Given the description of an element on the screen output the (x, y) to click on. 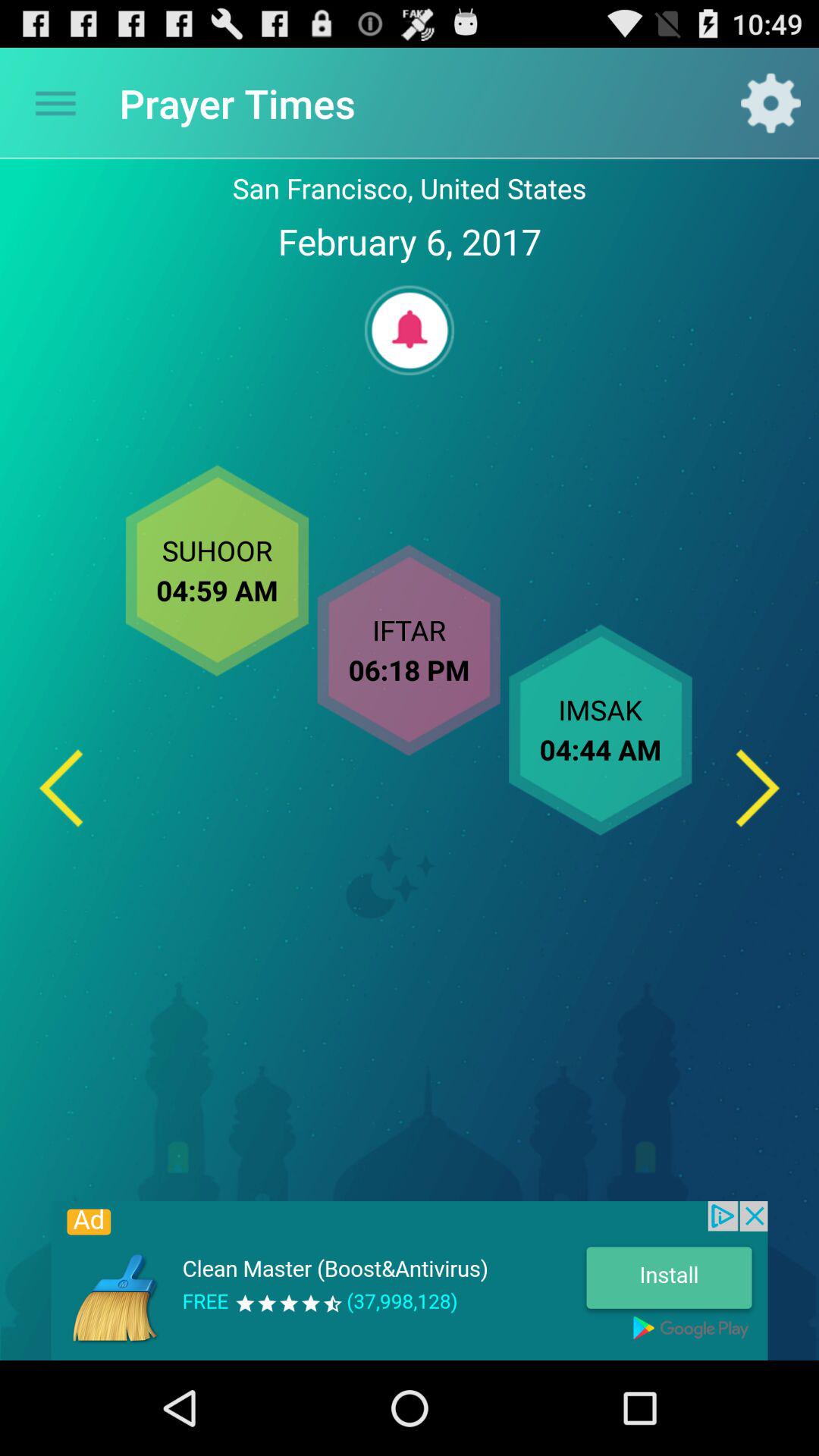
bell patan (409, 330)
